Given the description of an element on the screen output the (x, y) to click on. 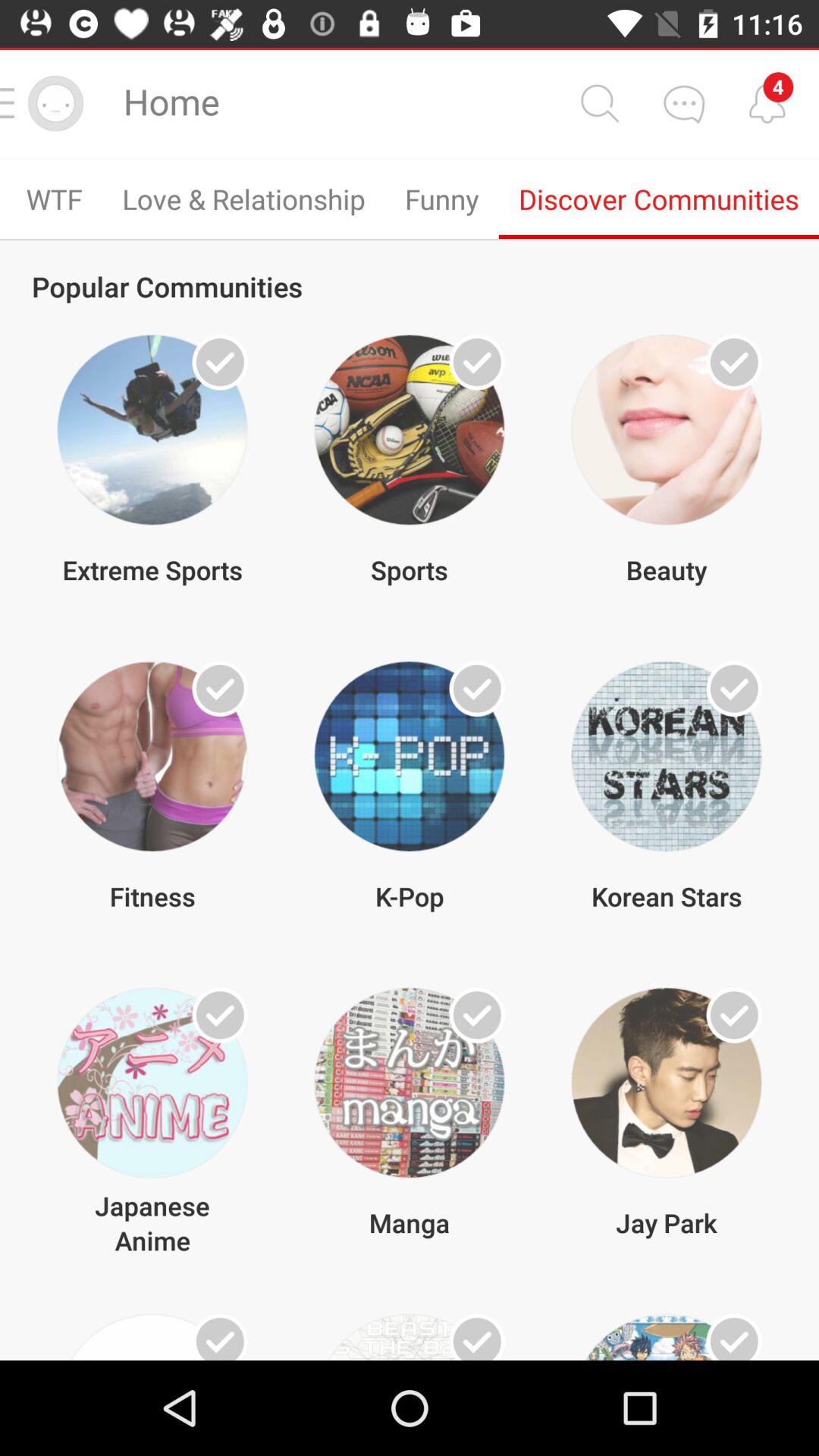
k-pop community (477, 688)
